Given the description of an element on the screen output the (x, y) to click on. 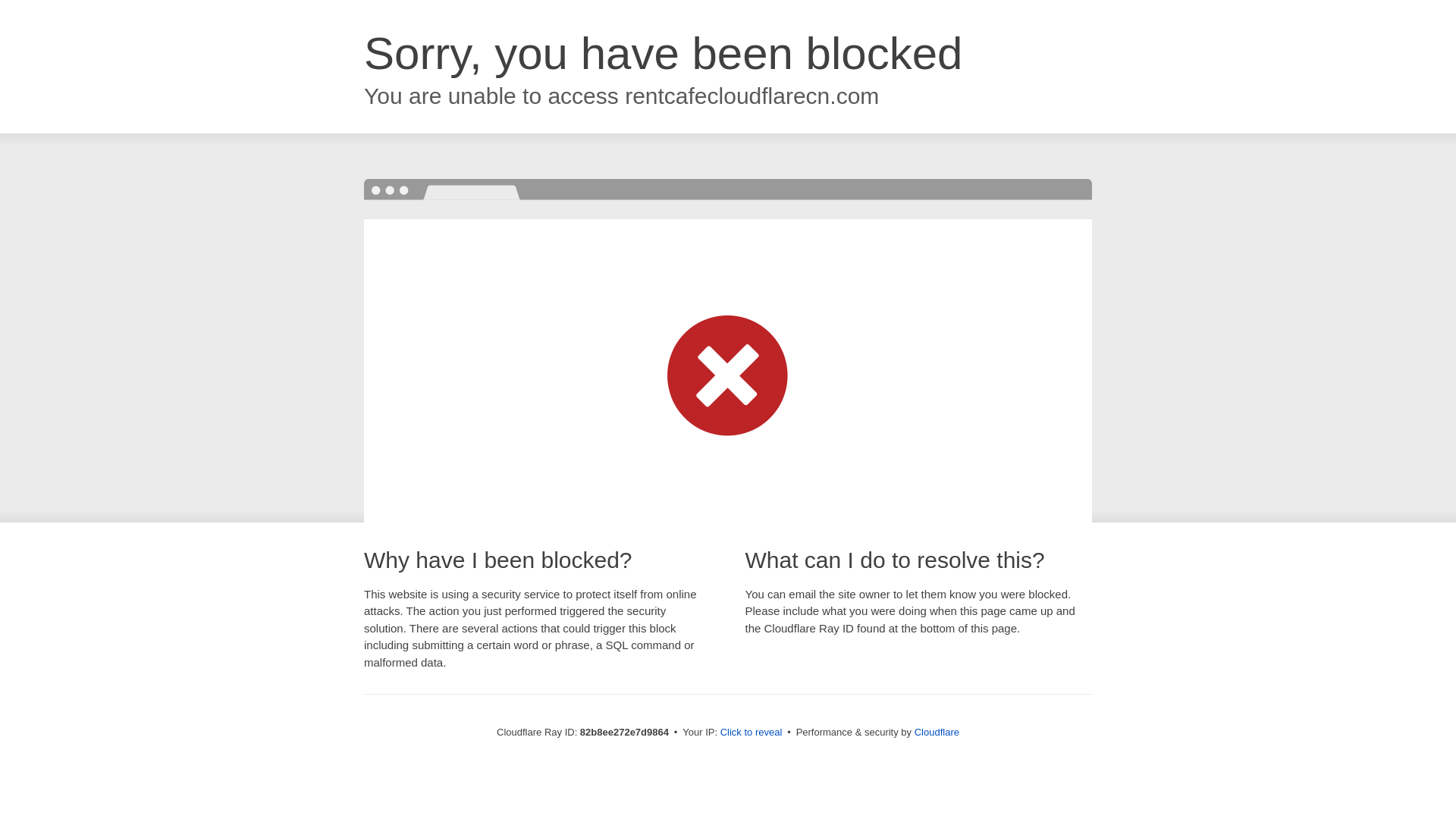
Click to reveal Element type: text (751, 732)
Cloudflare Element type: text (936, 731)
